Given the description of an element on the screen output the (x, y) to click on. 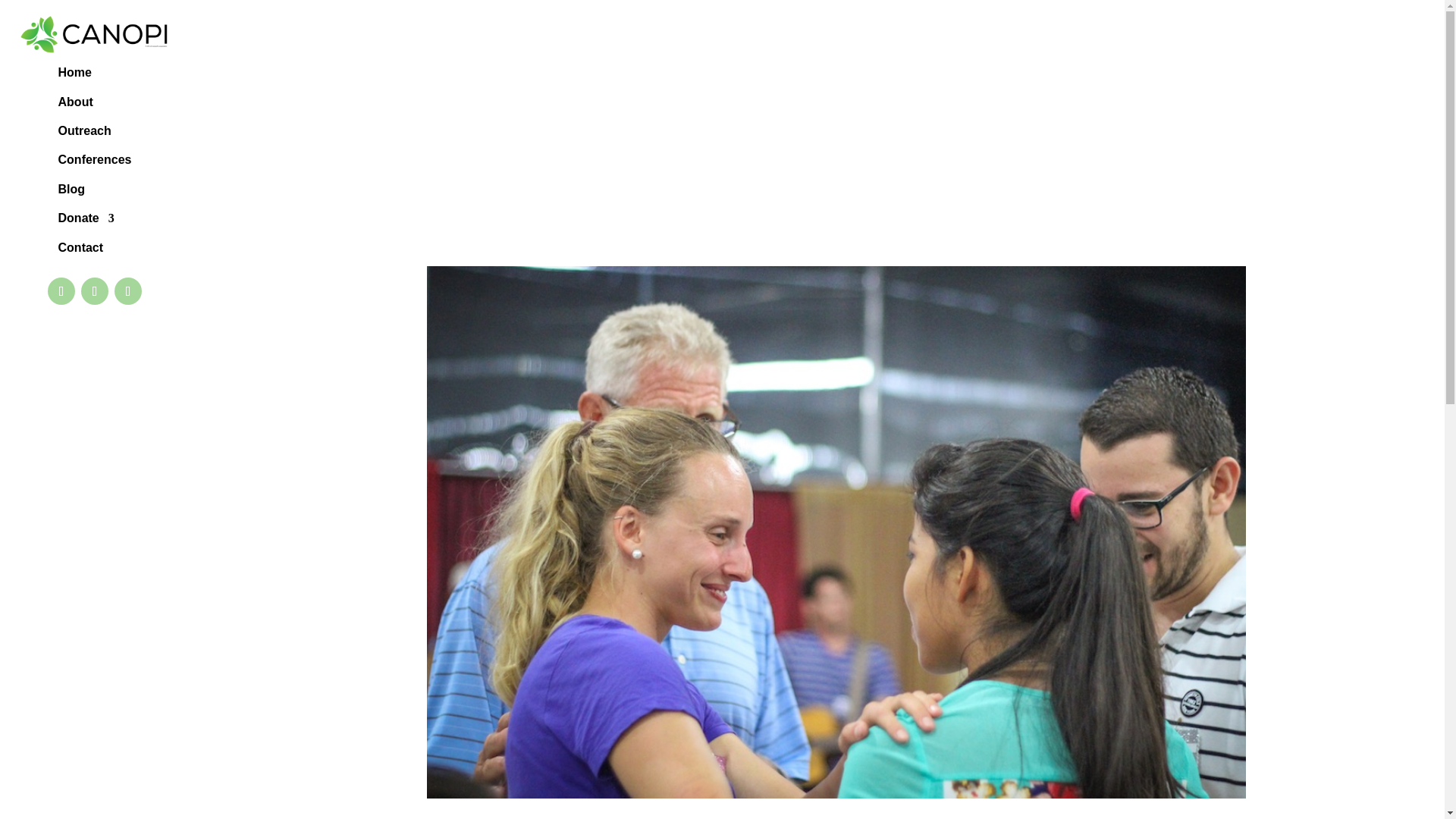
Home (74, 75)
Outreach (85, 133)
Follow on Instagram (128, 290)
Follow on Twitter (94, 290)
Contact (80, 250)
Blog (71, 191)
Follow on Facebook (61, 290)
Donate (86, 220)
CANOPI final file basic logo-03-edit-600 (94, 34)
Conferences (95, 162)
About (75, 105)
